Given the description of an element on the screen output the (x, y) to click on. 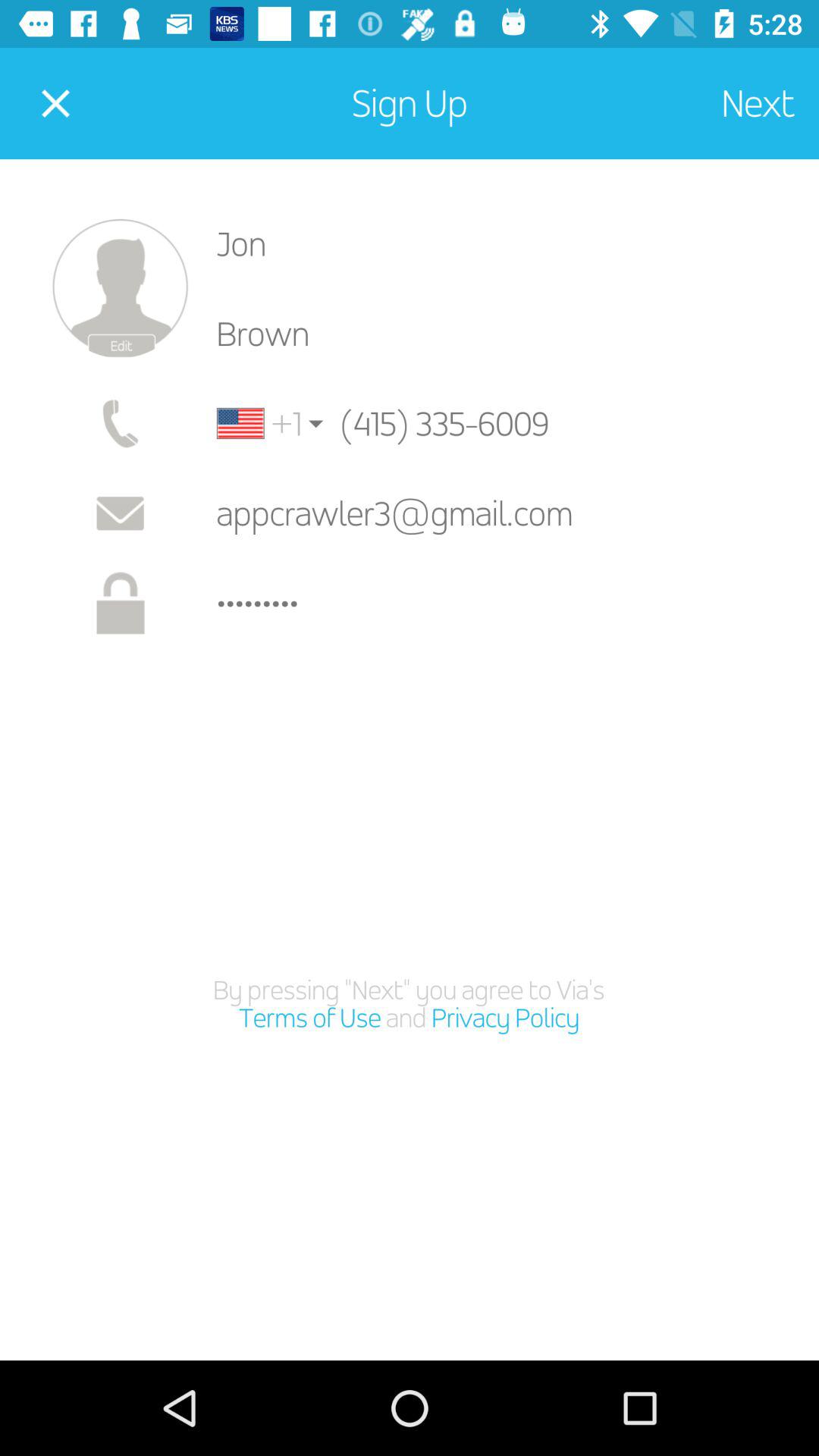
select icon above appcrawler3@gmail.com icon (472, 423)
